Given the description of an element on the screen output the (x, y) to click on. 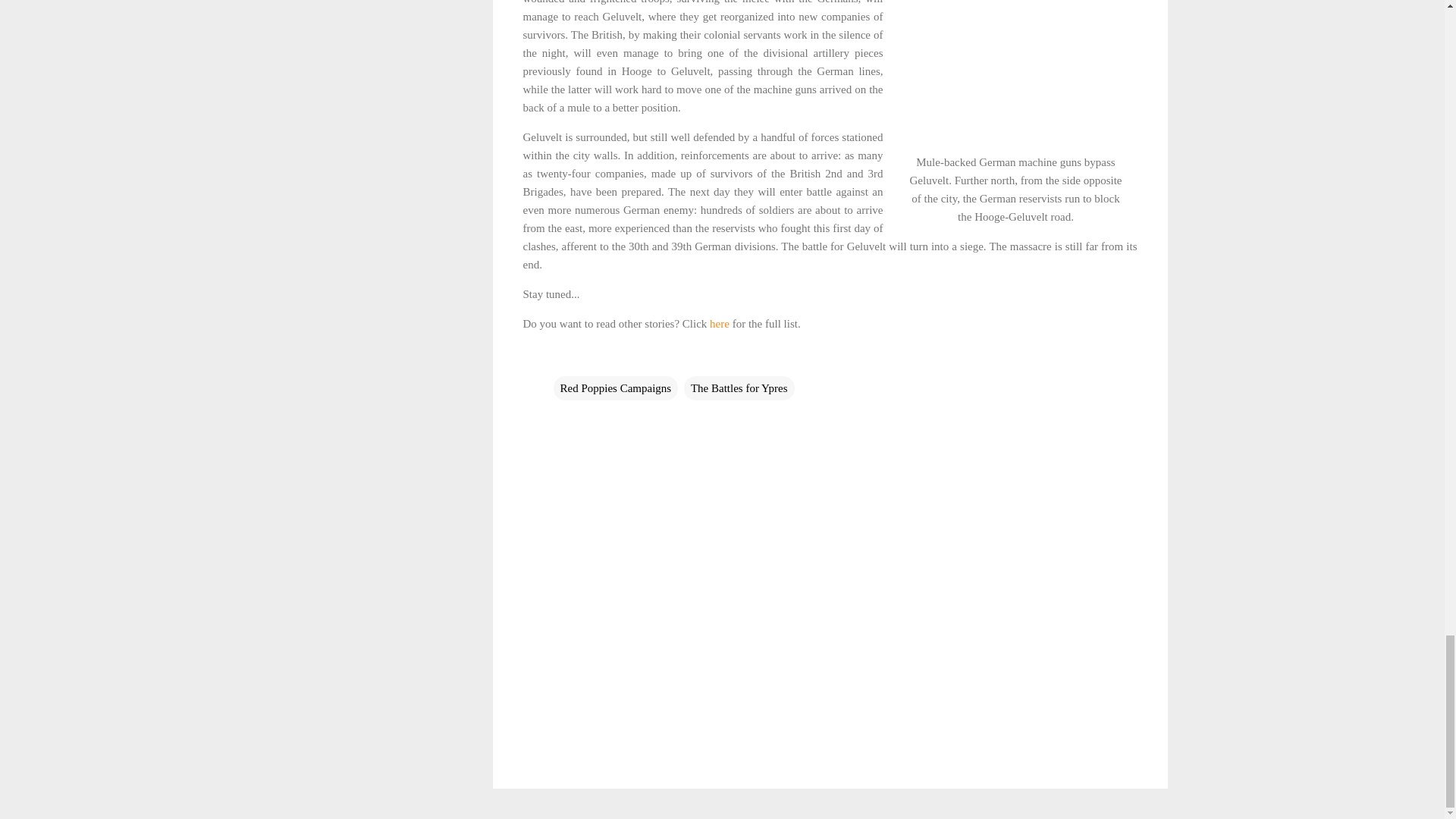
here  (721, 323)
Red Poppies Campaigns (615, 387)
The Battles for Ypres (739, 387)
